Given the description of an element on the screen output the (x, y) to click on. 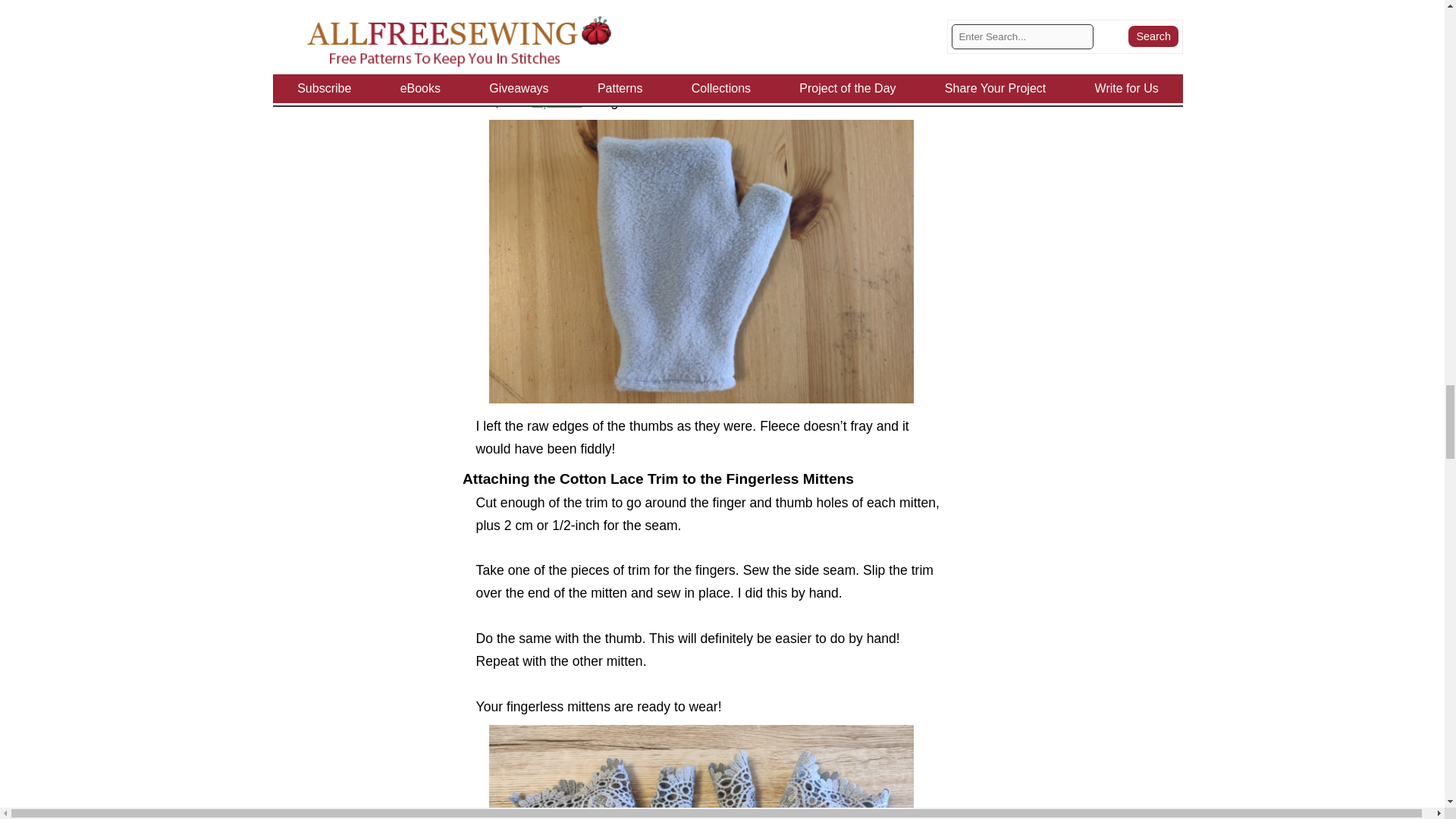
Lace Edged Fingerless Gloves - both sewn gloves (701, 28)
Lace Edged Fingerless Gloves - one sewn glove (701, 260)
Lace Edged Fingerless Gloves - finished (701, 771)
